Given the description of an element on the screen output the (x, y) to click on. 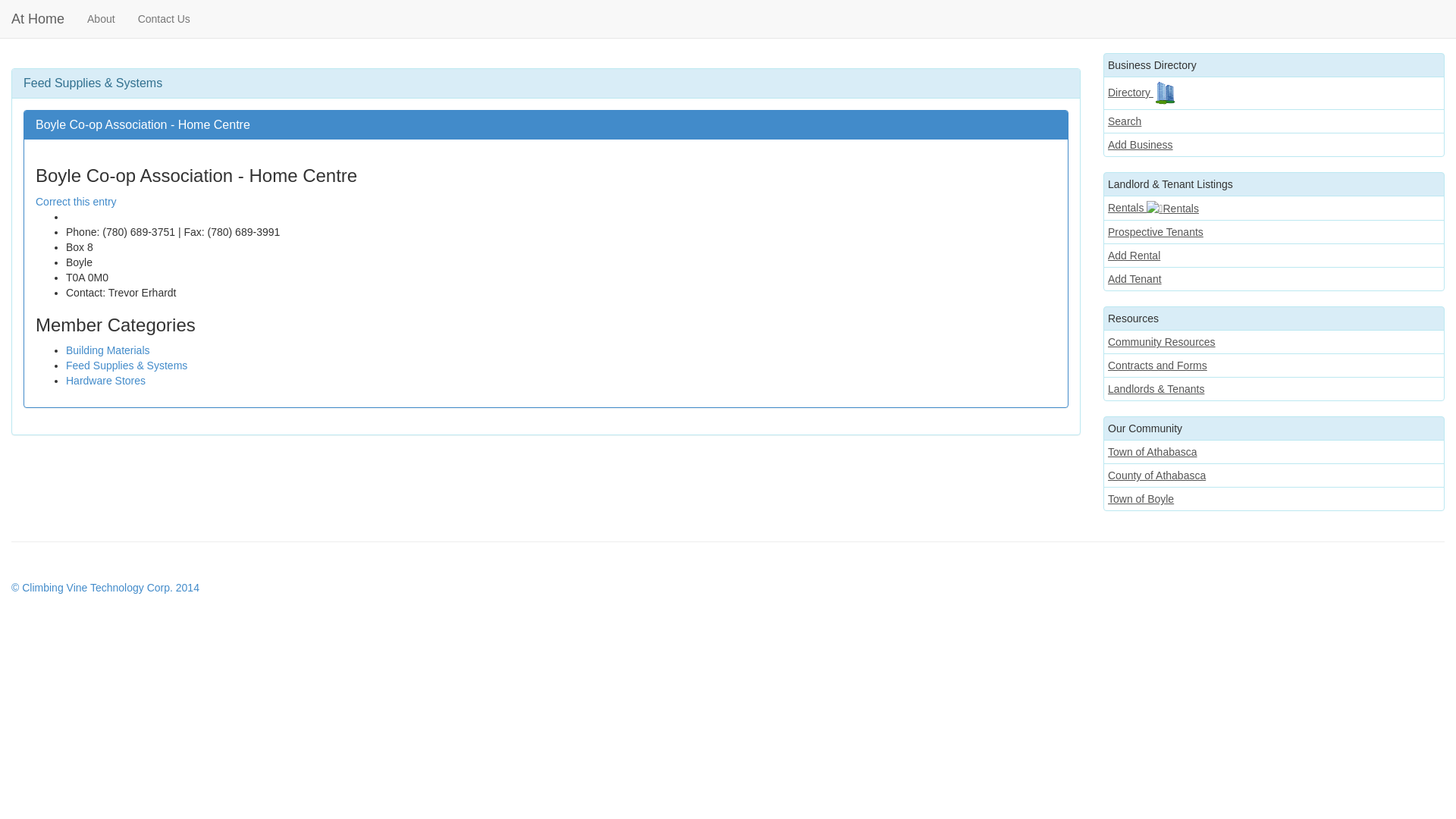
Hardware Stores Element type: text (105, 380)
Prospective Tenants Element type: text (1273, 231)
Contact Us Element type: text (163, 18)
Add Business Element type: text (1273, 144)
At Home Element type: text (37, 18)
Feed Supplies & Systems Element type: text (126, 365)
Add Rental Element type: text (1273, 255)
County of Athabasca Element type: text (1273, 475)
Town of Athabasca Element type: text (1273, 451)
Landlords & Tenants Element type: text (1273, 388)
Town of Boyle Element type: text (1273, 498)
Directory Element type: text (1273, 92)
Building Materials Element type: text (107, 350)
Search Element type: text (1273, 121)
About Element type: text (100, 18)
Contracts and Forms Element type: text (1273, 365)
Community Resources Element type: text (1273, 341)
Rentals Element type: text (1273, 207)
Add Tenant Element type: text (1273, 278)
Correct this entry Element type: text (75, 201)
